Given the description of an element on the screen output the (x, y) to click on. 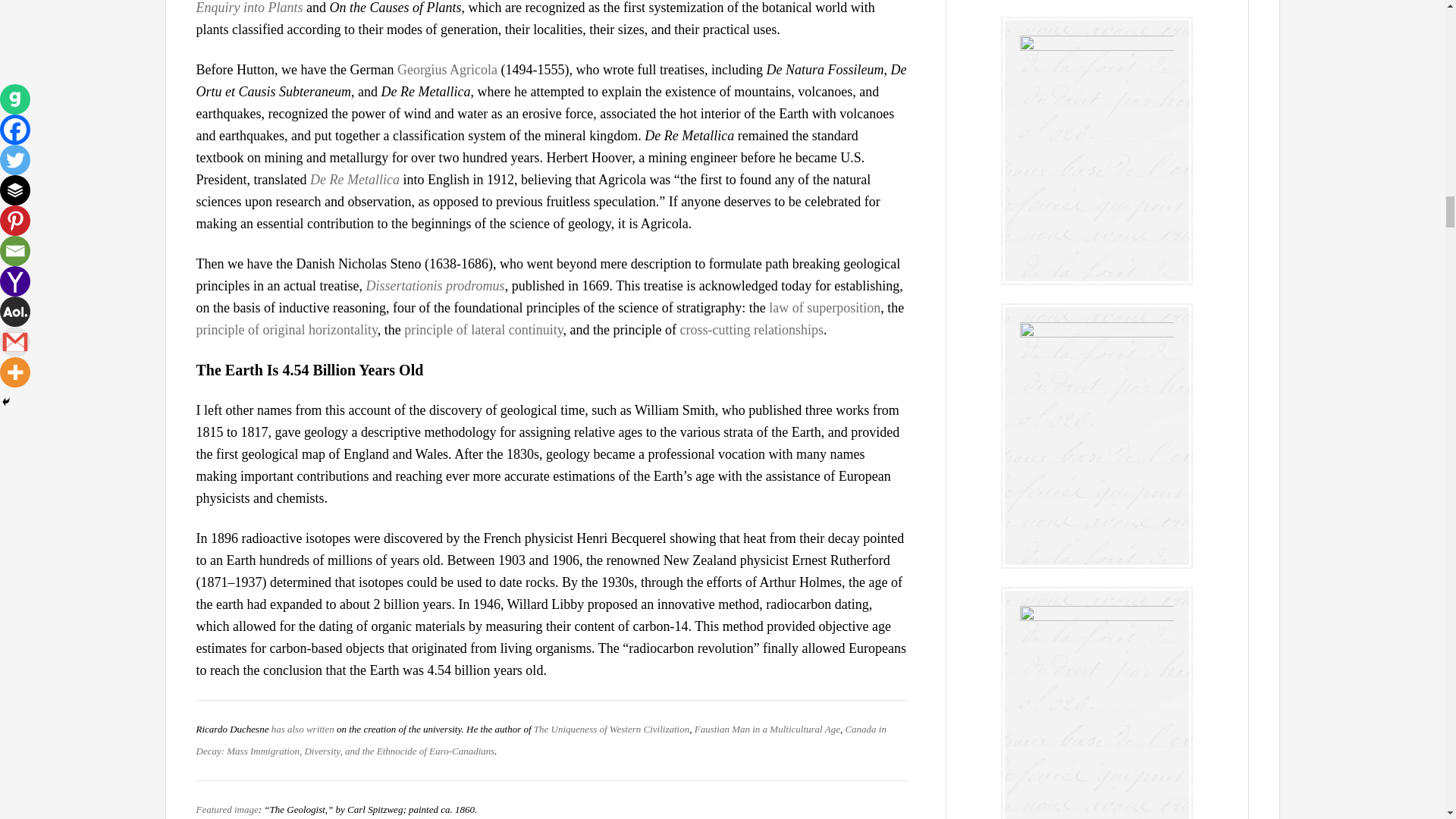
cross-cutting relationships (750, 329)
The Uniqueness of Western Civilization (611, 728)
principle of original horizontality (286, 329)
Dissertationis prodromus (434, 285)
Faustian Man in a Multicultural Age (767, 728)
Georgius Agricola (448, 69)
Enquiry into Plants (248, 7)
law of superposition (824, 307)
De Re Metallica (354, 179)
principle of lateral continuity (483, 329)
has also written  (303, 728)
